Given the description of an element on the screen output the (x, y) to click on. 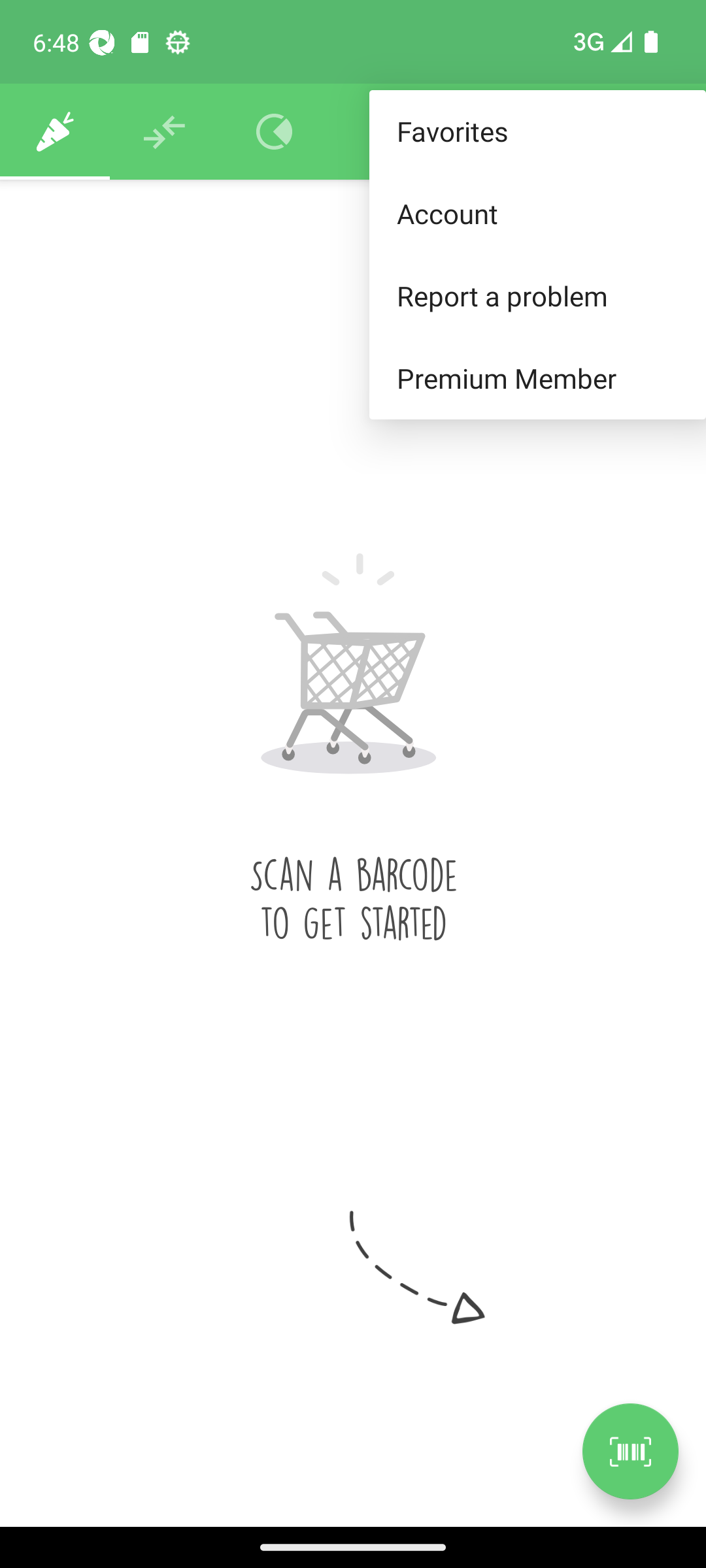
Favorites (537, 131)
Account (537, 213)
Report a problem (537, 295)
Premium Member (537, 378)
